Given the description of an element on the screen output the (x, y) to click on. 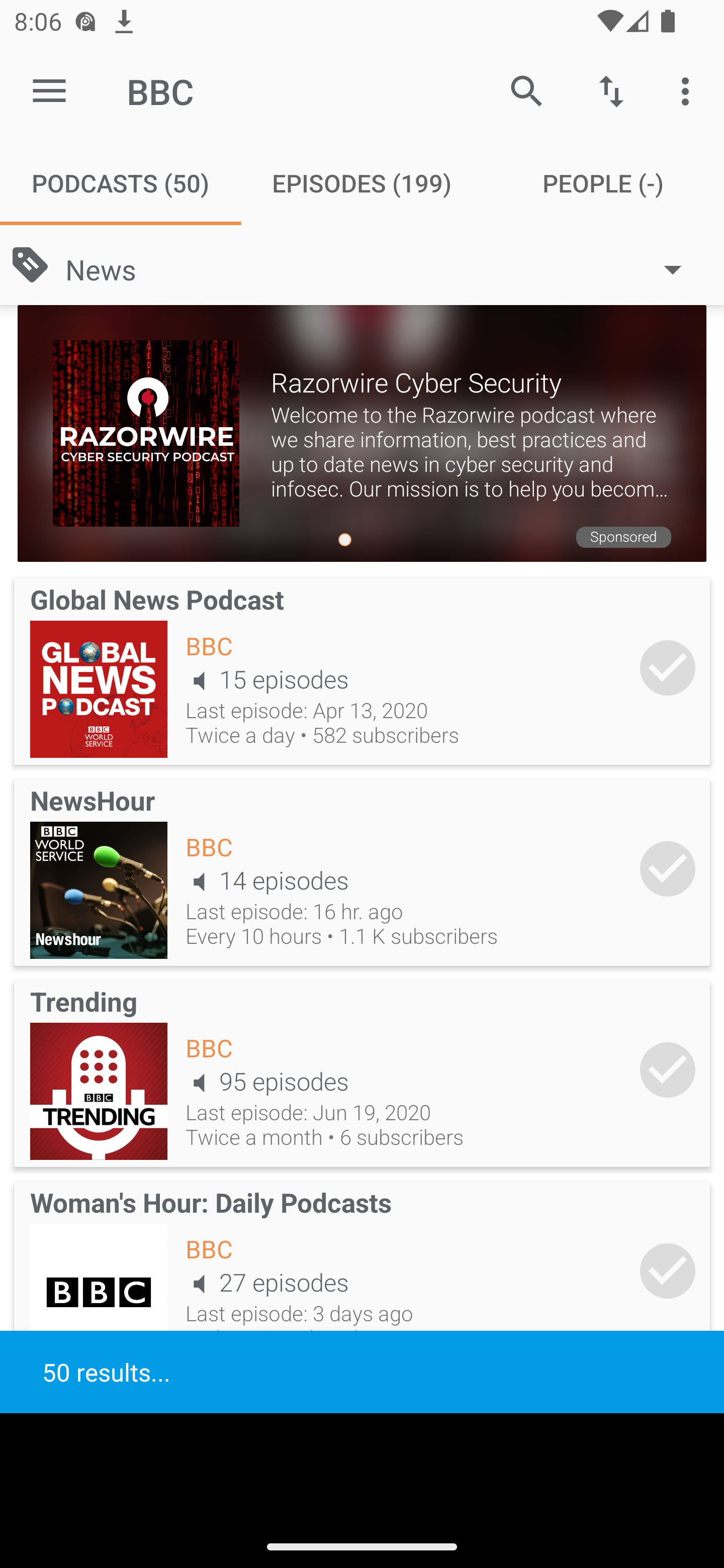
Open navigation sidebar (49, 91)
Search (526, 90)
Sort (611, 90)
More options (688, 90)
Episodes (199) EPISODES (199) (361, 183)
People (-) PEOPLE (-) (603, 183)
News (383, 268)
Add (667, 667)
Add (667, 868)
Add (667, 1069)
Add (667, 1271)
